Given the description of an element on the screen output the (x, y) to click on. 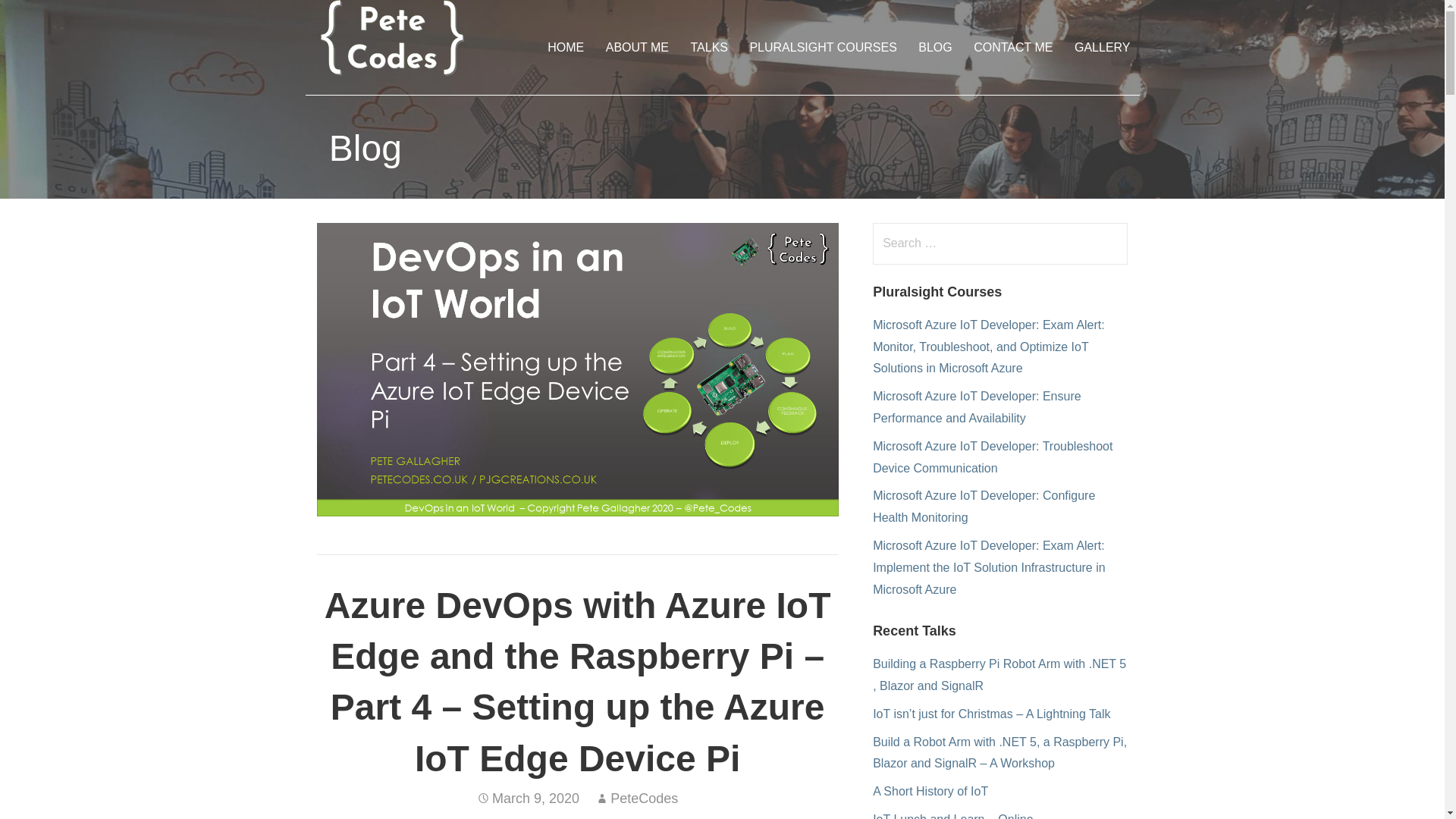
PLURALSIGHT COURSES (822, 47)
Posts by PeteCodes (644, 798)
CONTACT ME (1012, 47)
PeteCodes (644, 798)
